Given the description of an element on the screen output the (x, y) to click on. 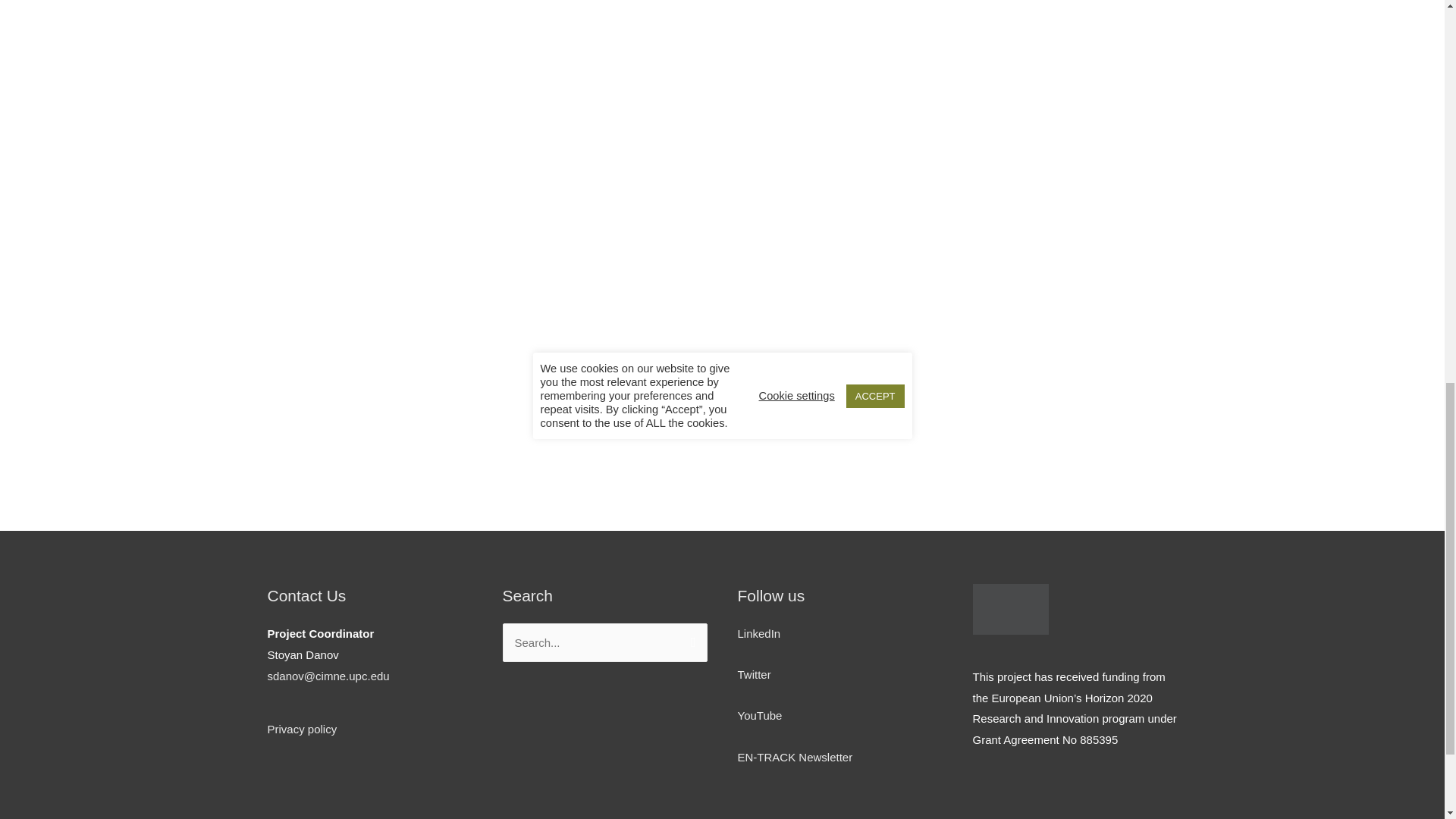
Search (689, 638)
Twitter (753, 674)
Search (689, 638)
YouTube (758, 715)
EN-TRACK Newsletter (793, 757)
LinkedIn (758, 633)
Search (689, 638)
Privacy policy (301, 728)
